Given the description of an element on the screen output the (x, y) to click on. 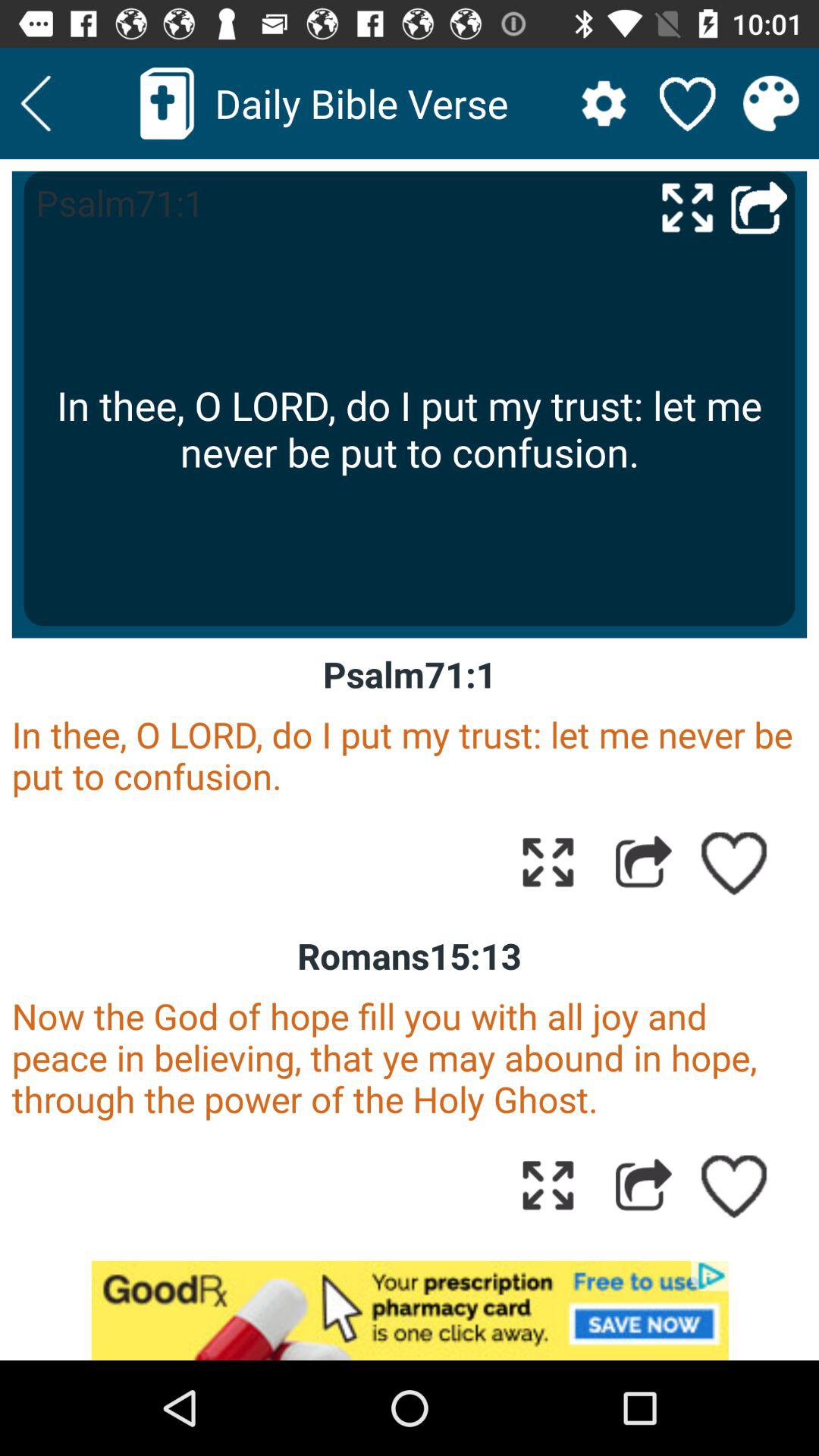
big pega (687, 206)
